Given the description of an element on the screen output the (x, y) to click on. 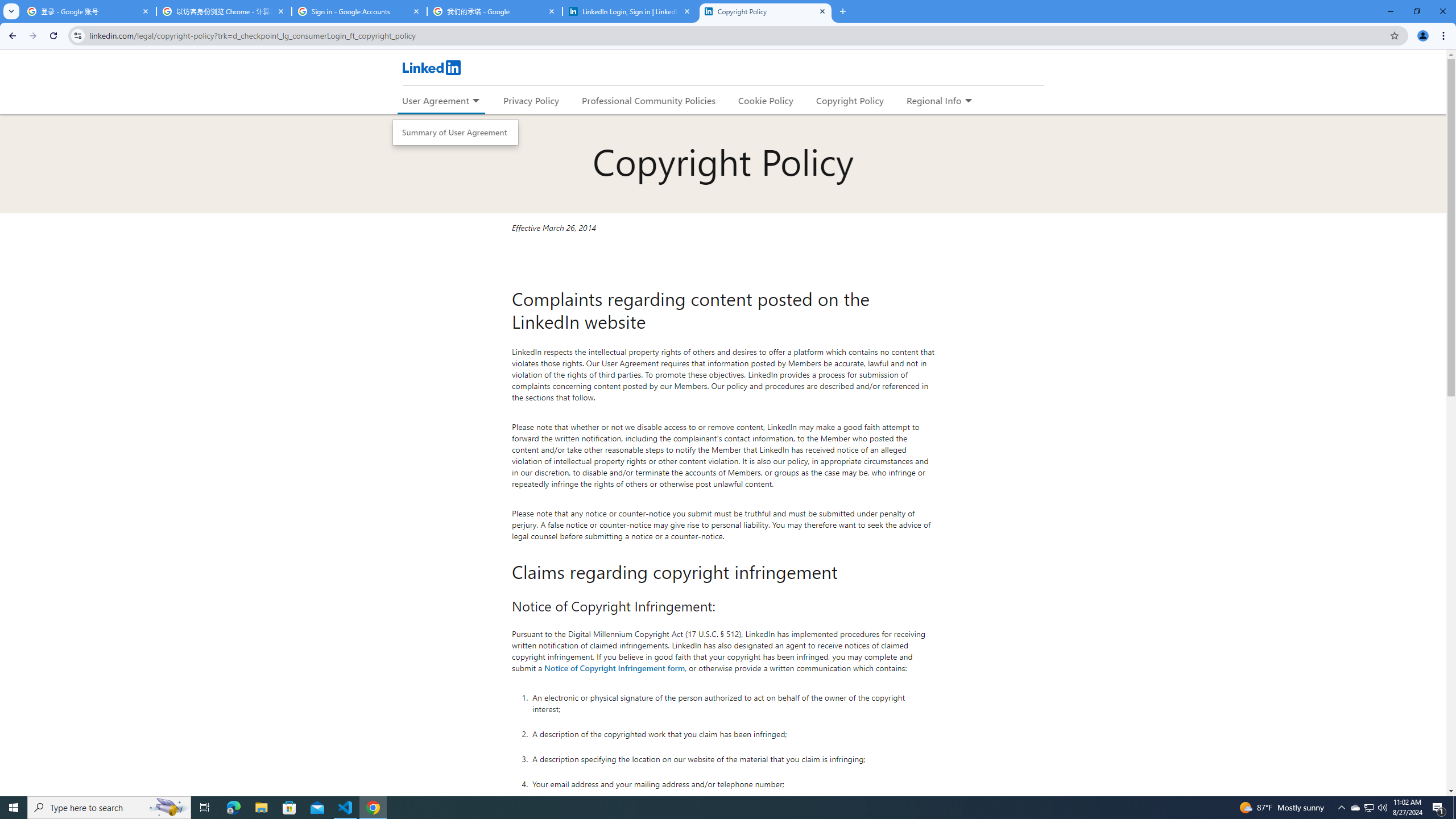
Privacy Policy (530, 100)
Copyright Policy (849, 100)
Copyright Policy (765, 11)
Sign in - Google Accounts (359, 11)
LinkedIn Logo (430, 67)
Expand to show more links for Regional Info (967, 101)
